Given the description of an element on the screen output the (x, y) to click on. 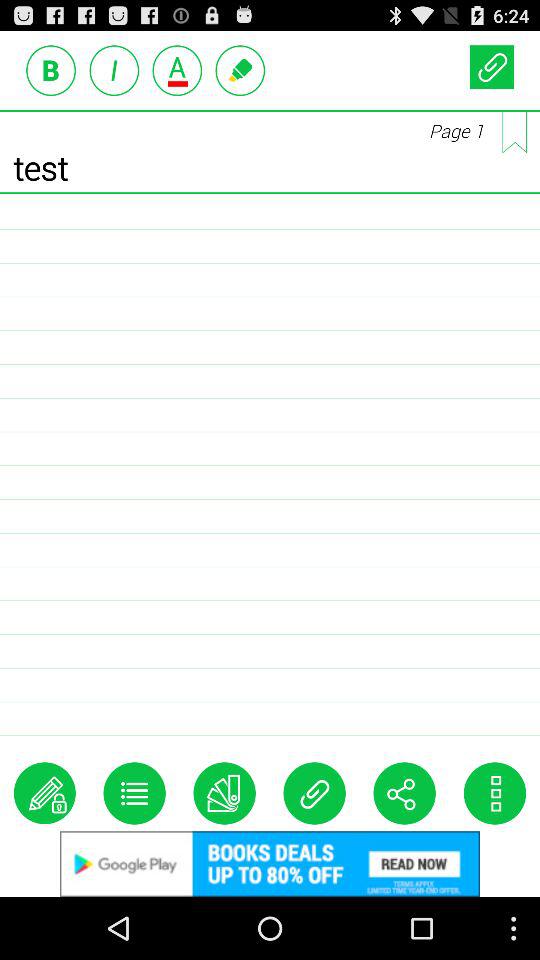
start writing a note (44, 793)
